Given the description of an element on the screen output the (x, y) to click on. 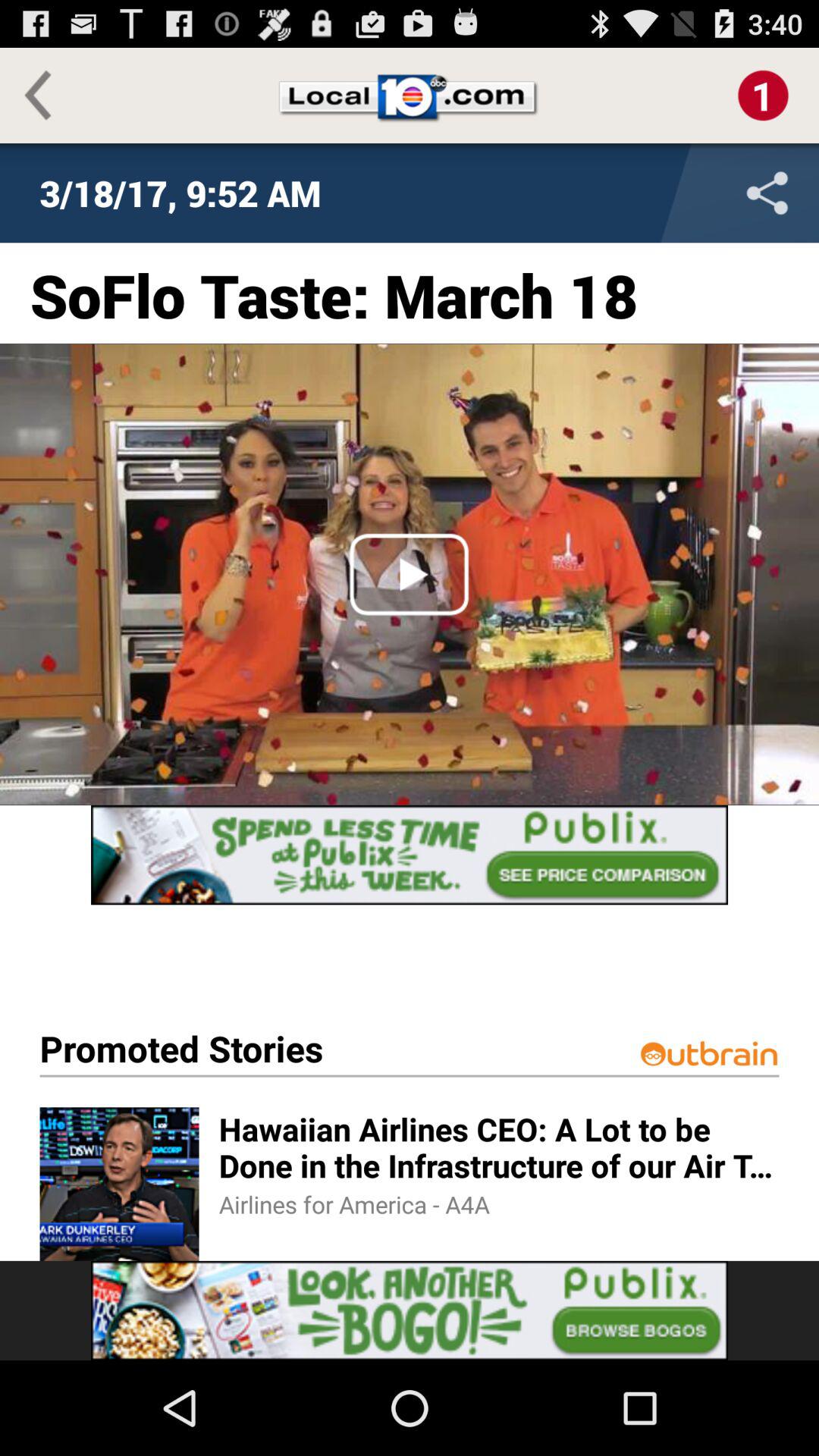
local10 news wplg and whatsapp forward mesg app (667, 192)
